Given the description of an element on the screen output the (x, y) to click on. 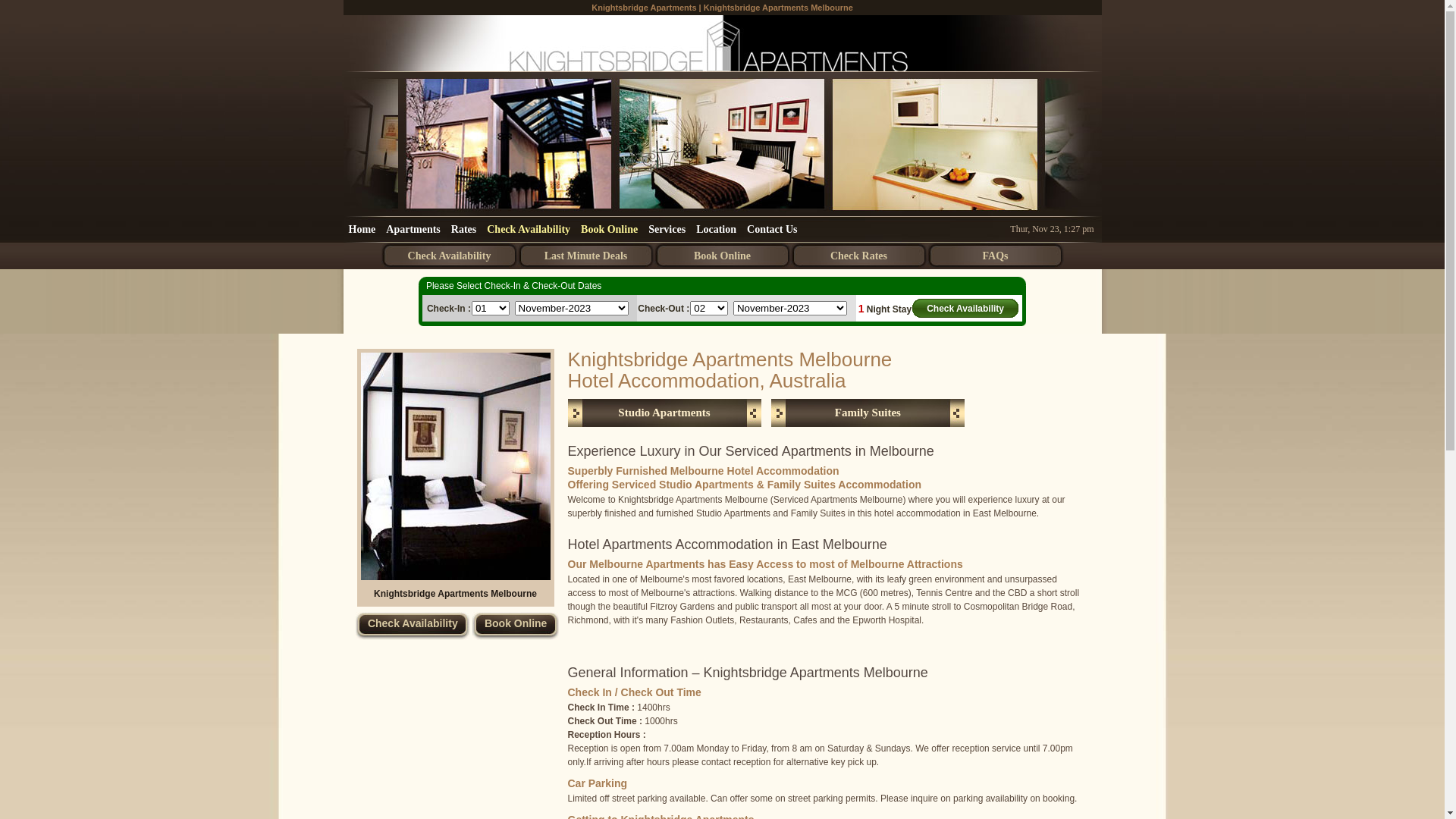
Knightsbridge Apartments Element type: text (643, 7)
Check Availability Element type: text (412, 625)
Book Online Element type: text (609, 229)
Knightsbridge Apartments Melbourne Element type: hover (455, 466)
Check Availability Element type: text (528, 229)
Home Element type: text (361, 229)
Knightsbridge Apartments Melbourne Element type: text (778, 7)
Book Online Element type: text (721, 255)
Contact Us Element type: text (772, 229)
Family Suites Element type: text (867, 412)
Check Availability Element type: text (965, 307)
FAQs Element type: text (994, 255)
Knightsbridge Apartments Melbourne Element type: hover (721, 43)
Apartments Element type: text (412, 229)
Rates Element type: text (463, 229)
Services Element type: text (666, 229)
Check Availability Element type: text (448, 255)
Studio Apartments Element type: text (663, 412)
Last Minute Deals Element type: text (585, 255)
Knightsbridge Apartments Melbourne Element type: hover (455, 576)
Knightsbridge Apartments Melbourne Element type: text (454, 593)
Location Element type: text (715, 229)
Check Rates Element type: text (858, 255)
Book Online Element type: text (515, 625)
